Given the description of an element on the screen output the (x, y) to click on. 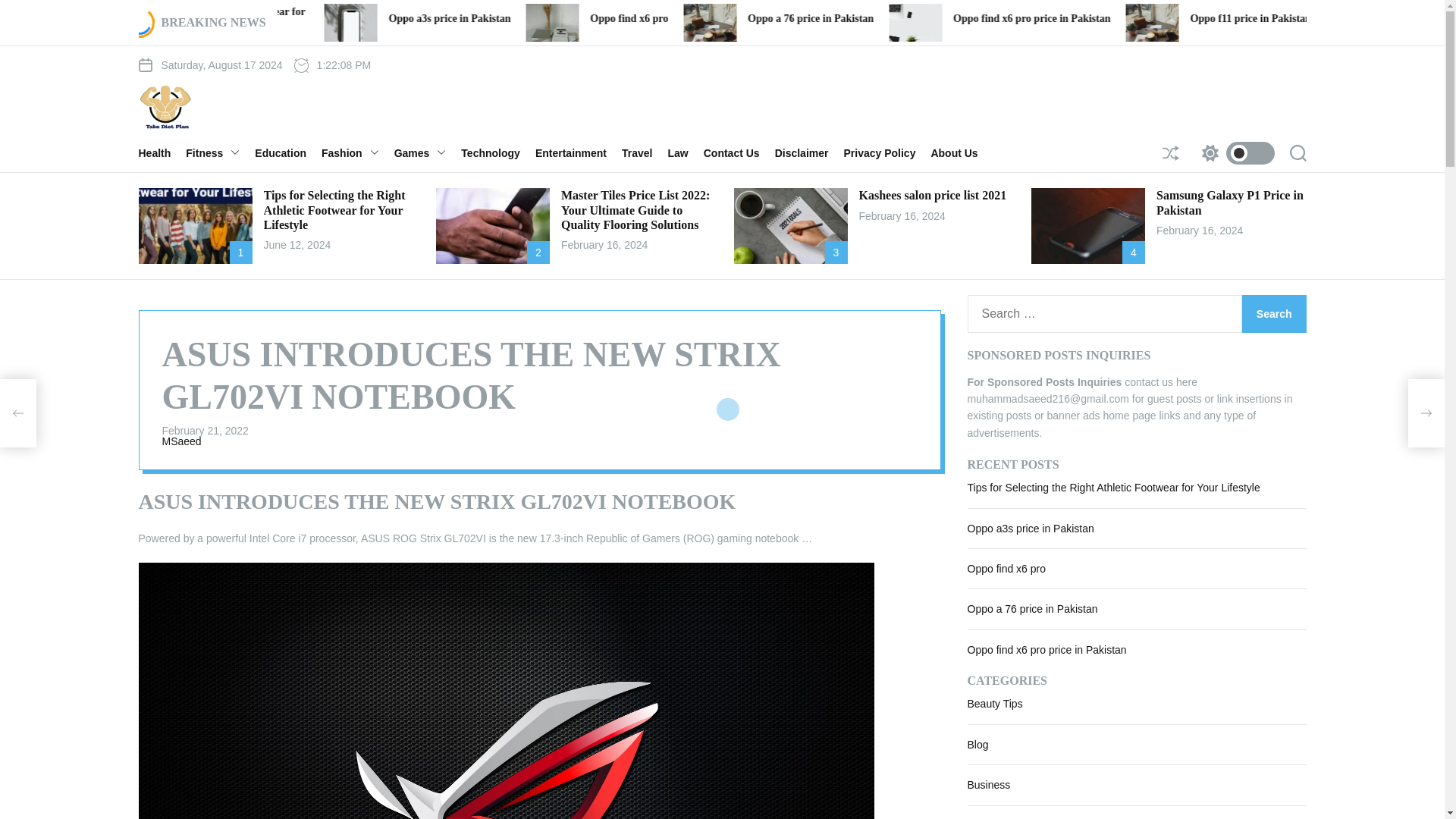
Search (1273, 313)
Oppo a 76 price in Pakistan (1070, 18)
Oppo find x6 pro (889, 18)
Health (162, 152)
Oppo find x6 pro price in Pakistan (1291, 18)
Search (1273, 313)
Oppo a3s price in Pakistan (710, 18)
